Given the description of an element on the screen output the (x, y) to click on. 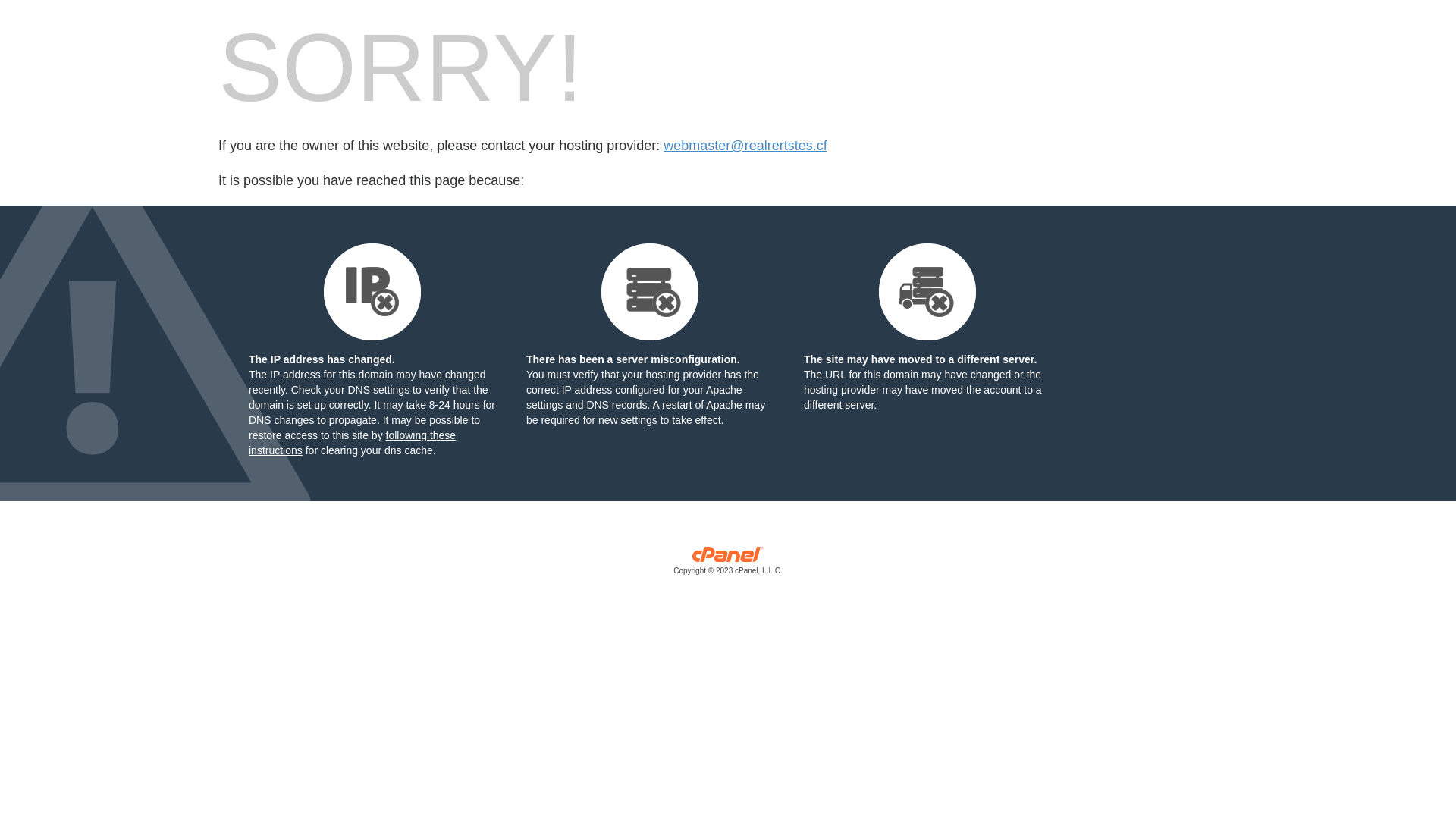
webmaster@realrertstes.cf Element type: text (744, 145)
following these instructions Element type: text (351, 442)
